Given the description of an element on the screen output the (x, y) to click on. 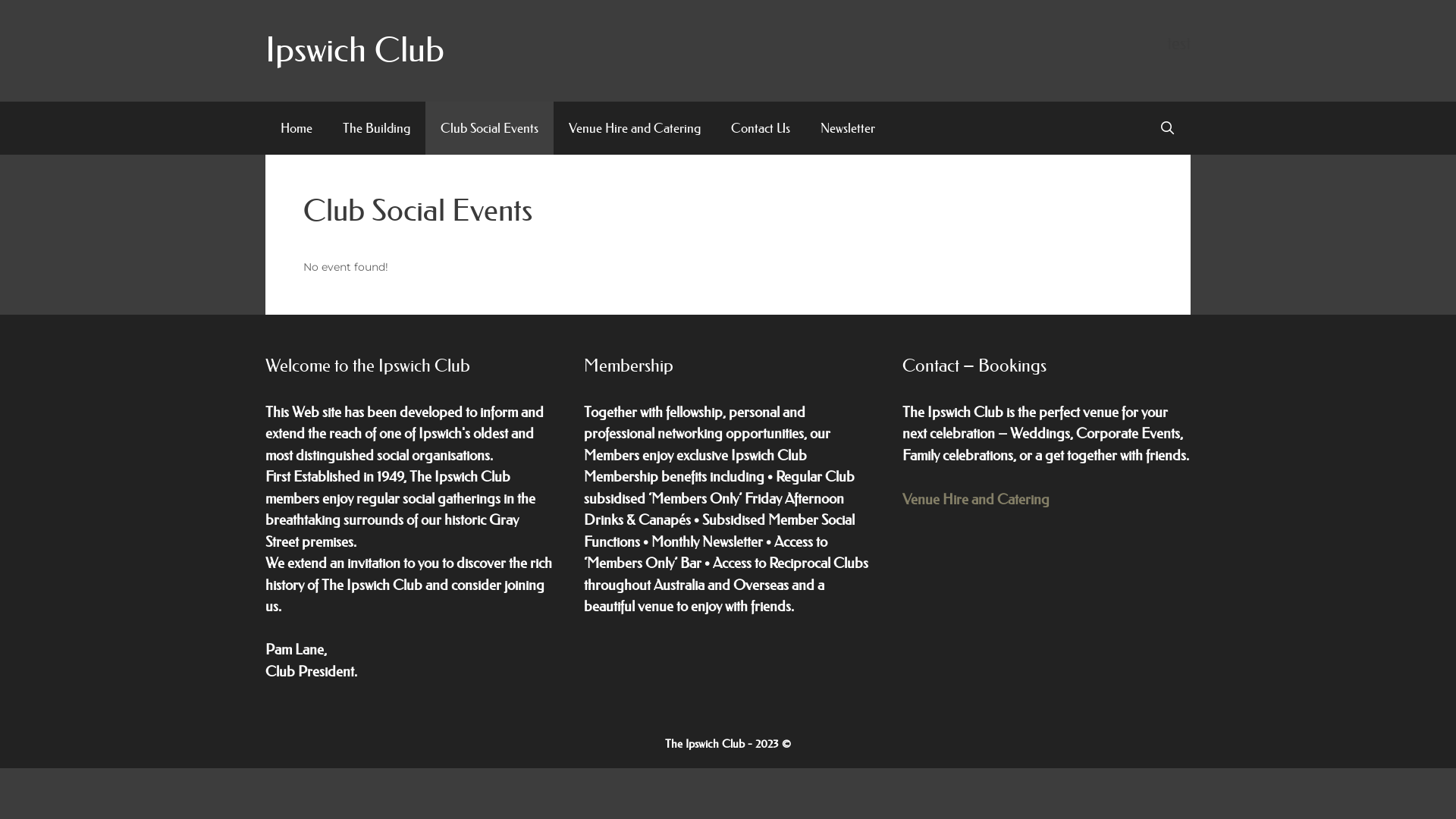
Venue Hire and Catering Element type: text (975, 499)
Home Element type: text (296, 127)
Club Social Events Element type: text (489, 127)
Venue Hire and Catering Element type: text (634, 127)
Ipswich Club Element type: text (354, 50)
Contact Us Element type: text (760, 127)
Newsletter Element type: text (847, 127)
The Building Element type: text (376, 127)
